Given the description of an element on the screen output the (x, y) to click on. 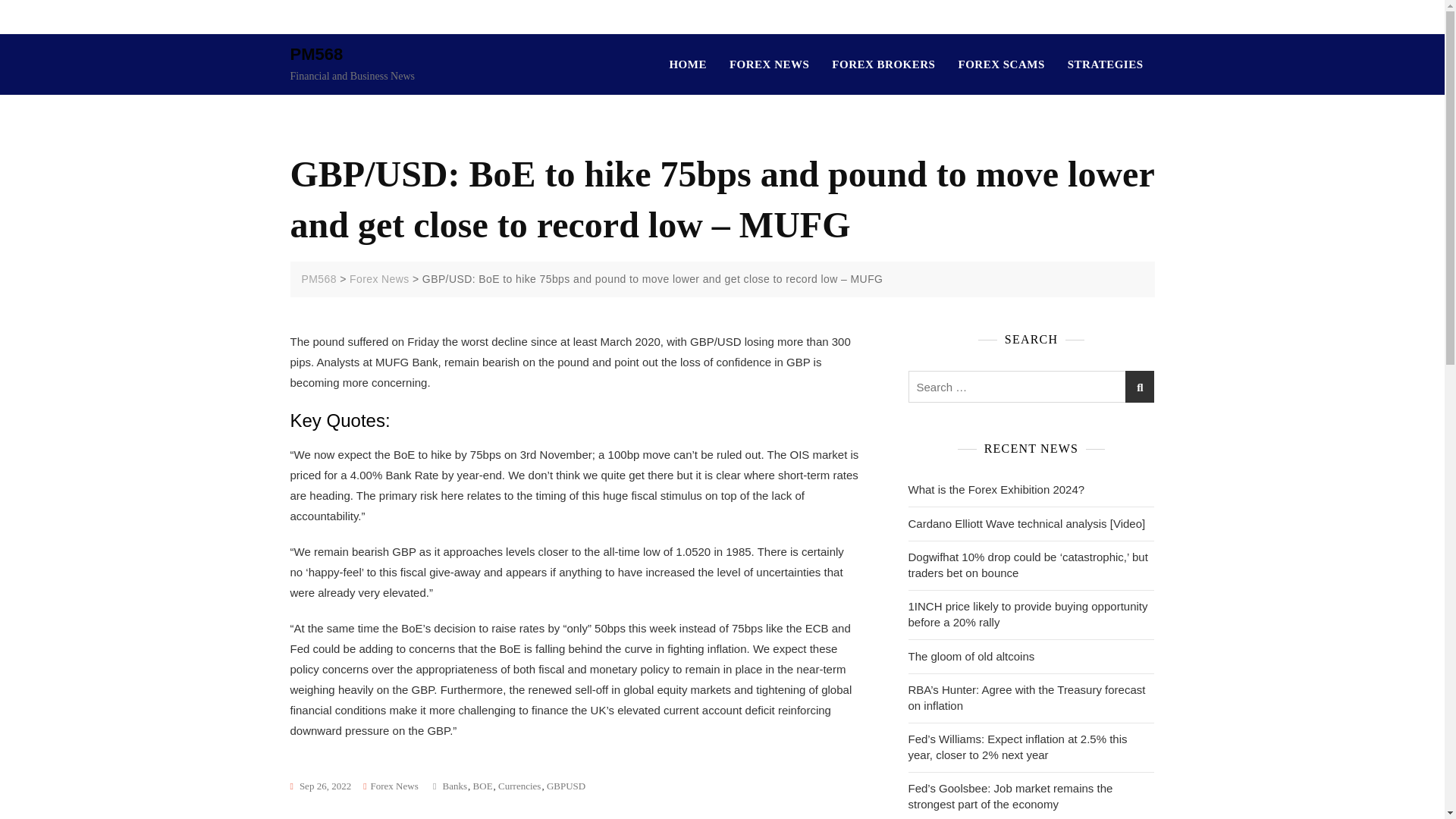
PM568 (315, 54)
Forex News (395, 786)
GBPUSD (566, 786)
What is the Forex Exhibition 2024? (996, 489)
FOREX NEWS (769, 64)
Banks (454, 786)
FOREX BROKERS (883, 64)
Forex News (379, 278)
FOREX SCAMS (1000, 64)
STRATEGIES (1105, 64)
Go to the Forex News Category archives. (379, 278)
Go to PM568. (318, 278)
HOME (692, 64)
PM568 (318, 278)
Currencies (518, 786)
